Given the description of an element on the screen output the (x, y) to click on. 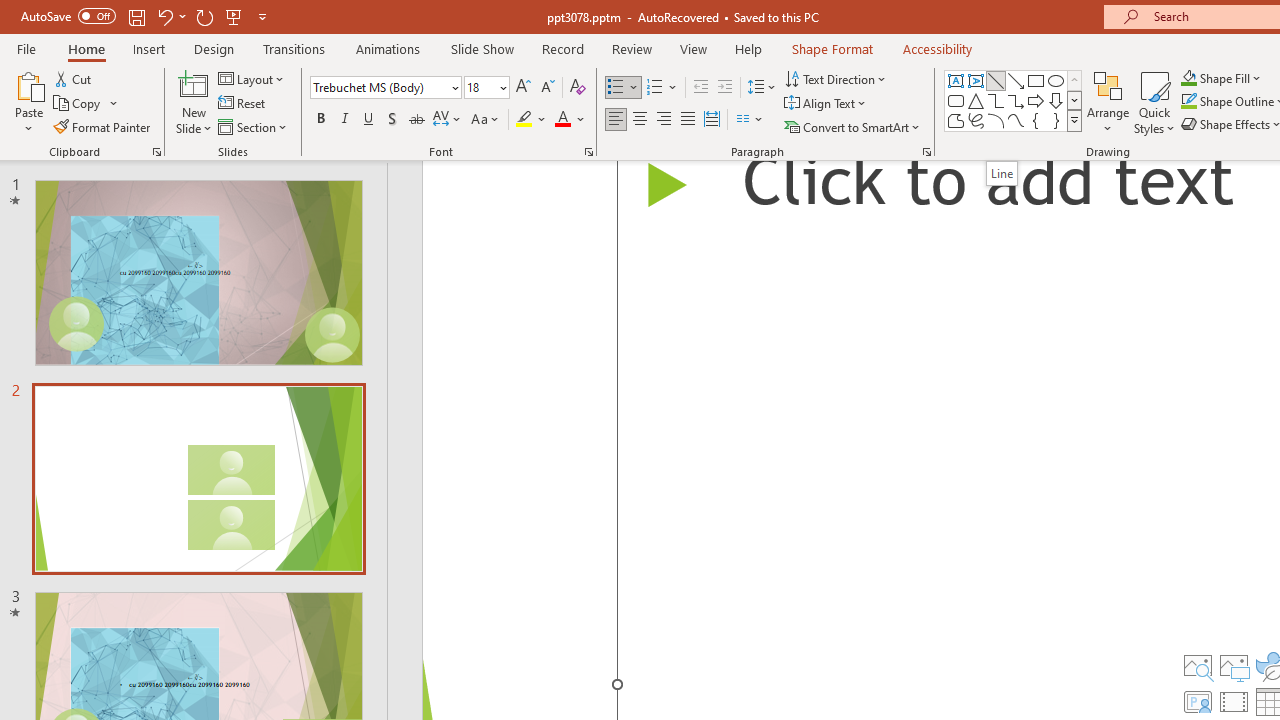
Bullets (616, 87)
Center (639, 119)
Slide (198, 478)
